Given the description of an element on the screen output the (x, y) to click on. 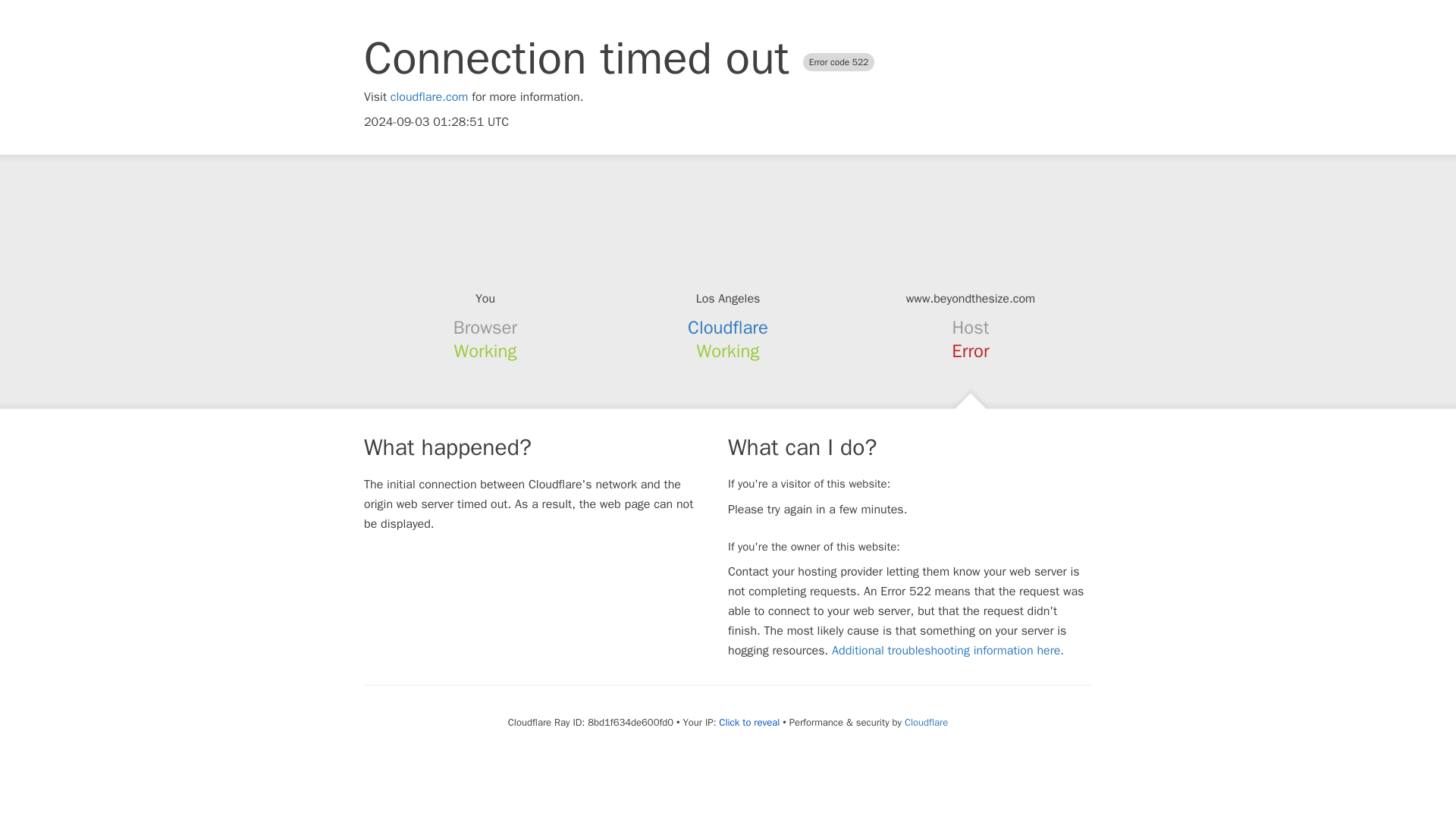
Cloudflare (925, 721)
Additional troubleshooting information here. (947, 650)
cloudflare.com (429, 96)
Cloudflare (727, 327)
Click to reveal (748, 722)
